Given the description of an element on the screen output the (x, y) to click on. 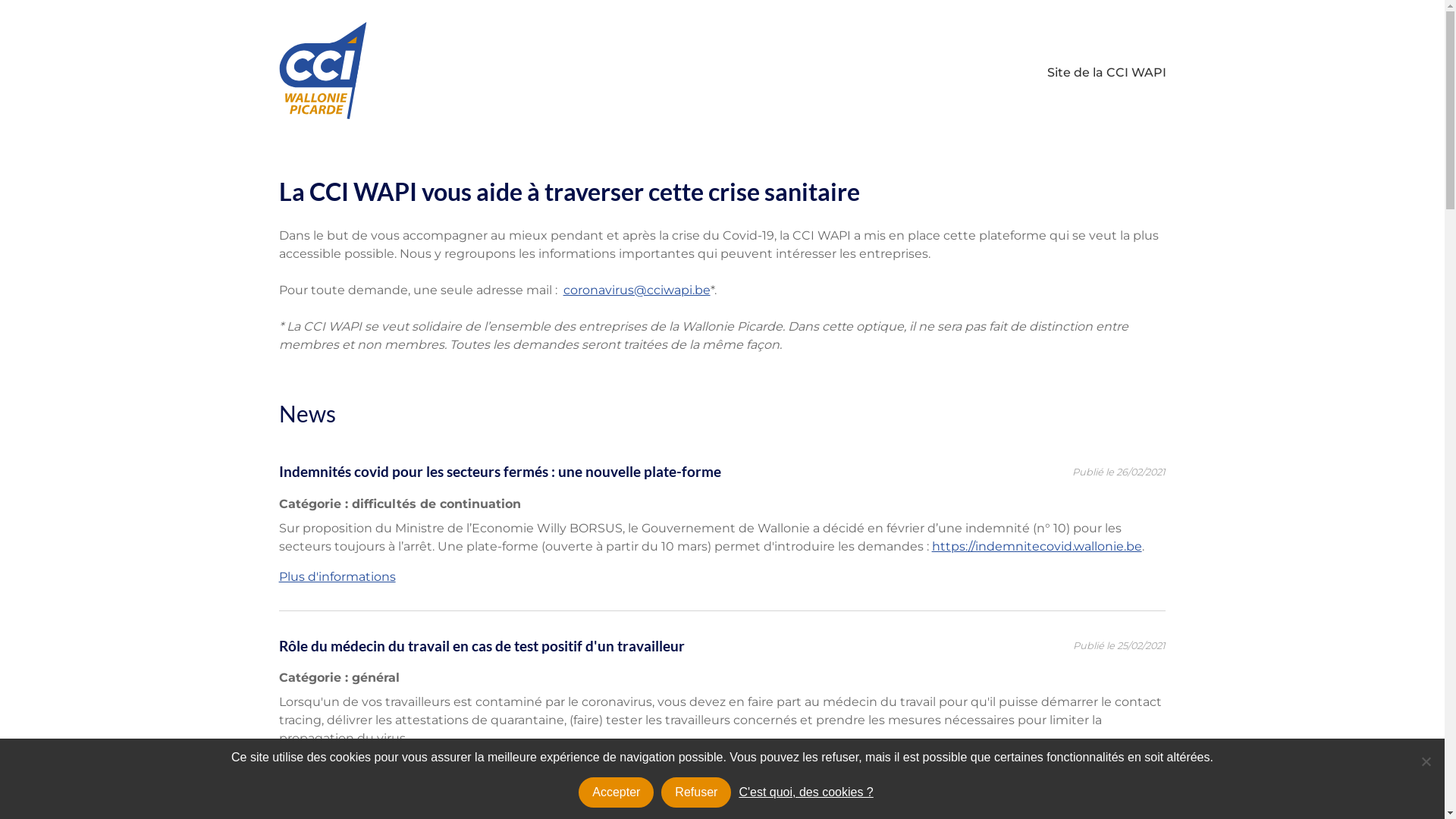
Plus d'informations Element type: text (337, 768)
https://indemnitecovid.wallonie.be Element type: text (1036, 546)
Accepter Element type: text (615, 792)
Site de la CCI WAPI Element type: text (1105, 72)
coronavirus@cciwapi.be Element type: text (636, 289)
Plus d'informations Element type: text (337, 576)
Refuser Element type: hover (1425, 760)
Refuser Element type: text (696, 792)
C'est quoi, des cookies ? Element type: text (805, 792)
